Given the description of an element on the screen output the (x, y) to click on. 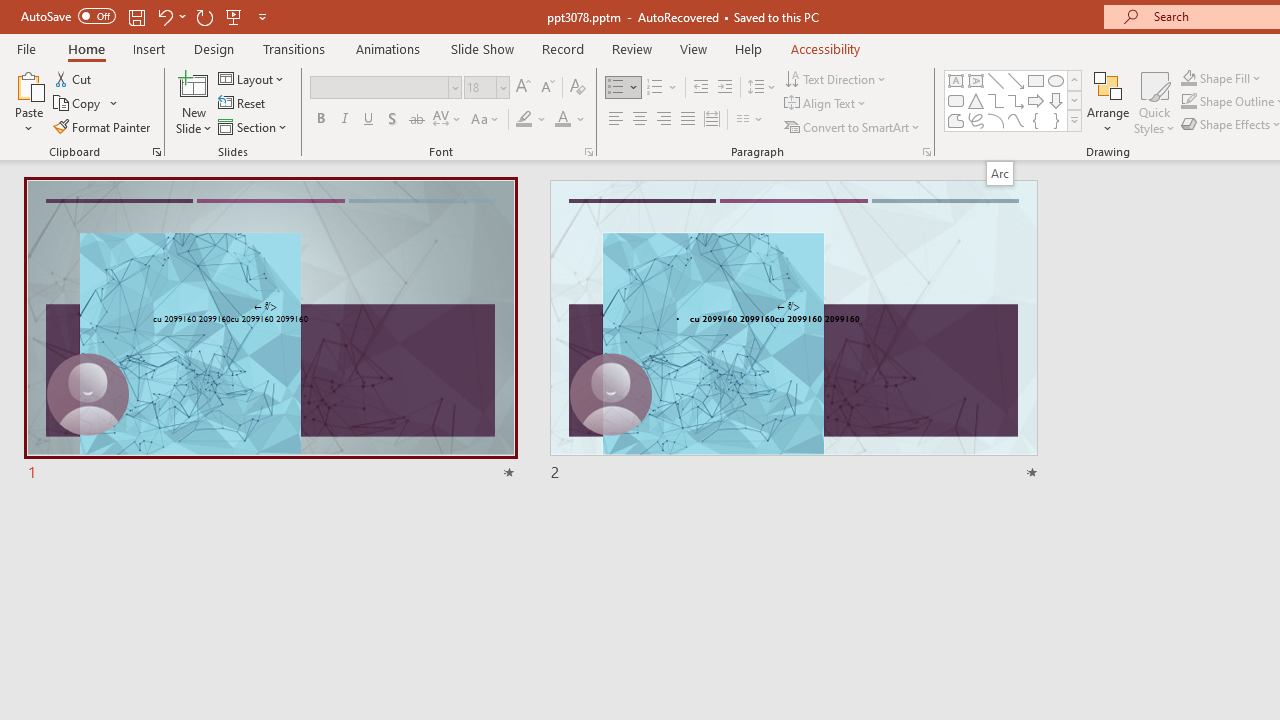
Change Case (486, 119)
Align Text (826, 103)
Underline (369, 119)
Format Painter (103, 126)
Shape Fill Dark Green, Accent 2 (1188, 78)
Distributed (712, 119)
Freeform: Scribble (975, 120)
Justify (687, 119)
Connector: Elbow (995, 100)
Shape Outline Green, Accent 1 (1188, 101)
